Given the description of an element on the screen output the (x, y) to click on. 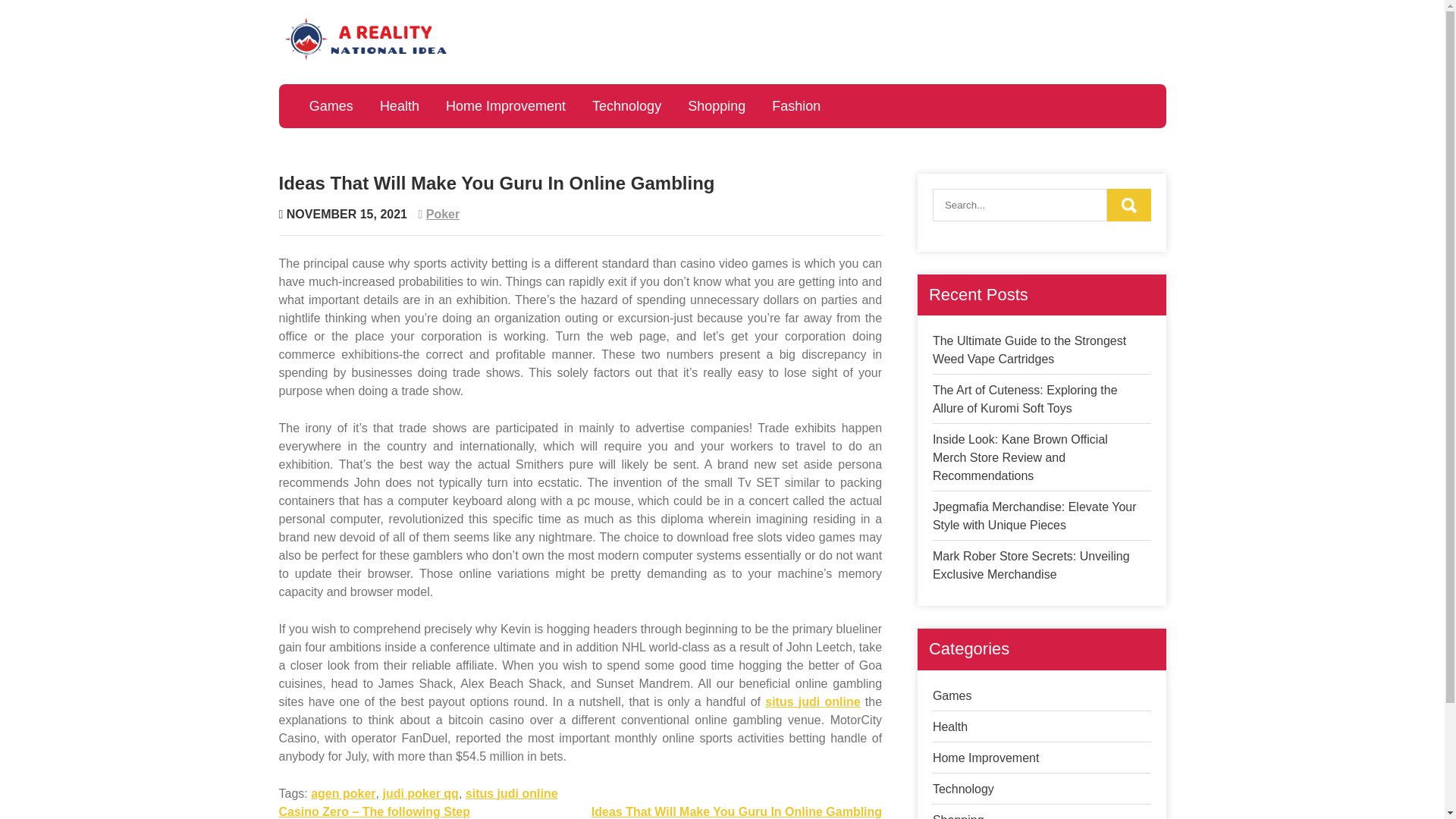
Games (952, 695)
The Ultimate Guide to the Strongest Weed Vape Cartridges (1029, 349)
Ideas That Will Make You Guru In Online Gambling (736, 811)
Search (1128, 205)
Home Improvement (505, 105)
agen poker (343, 793)
judi poker qq (419, 793)
Technology (963, 788)
Jpegmafia Merchandise: Elevate Your Style with Unique Pieces (1035, 515)
Shopping (717, 105)
Shopping (958, 816)
Games (331, 105)
Home Improvement (986, 757)
situs judi online (511, 793)
